Given the description of an element on the screen output the (x, y) to click on. 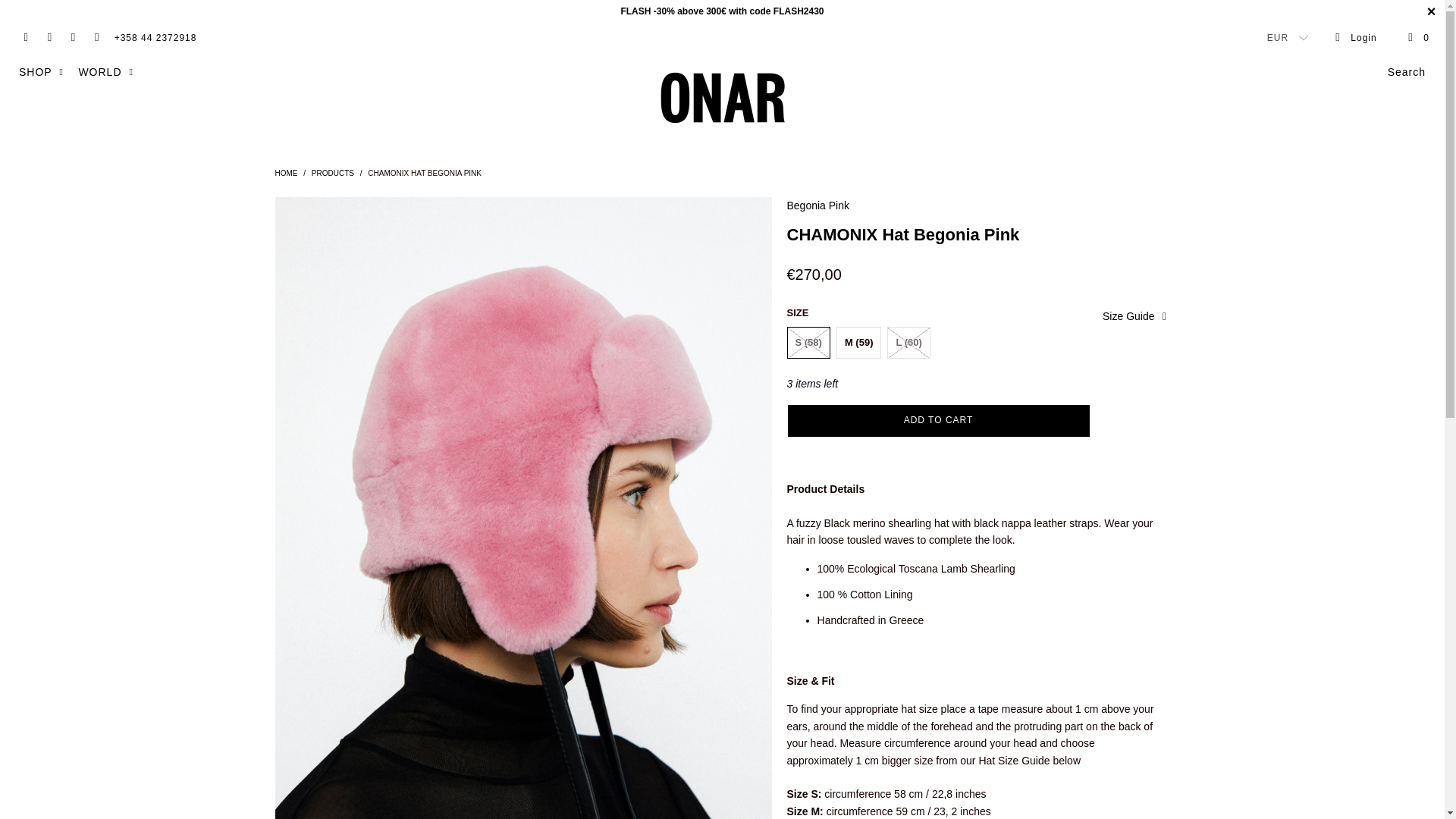
Begonia Pink (818, 205)
Email ONAR  (94, 37)
ONAR  on Twitter (25, 37)
ONAR  (722, 97)
Products (332, 172)
My Account  (1355, 37)
ONAR  on Instagram (71, 37)
ONAR  on Facebook (48, 37)
ONAR  (286, 172)
